Given the description of an element on the screen output the (x, y) to click on. 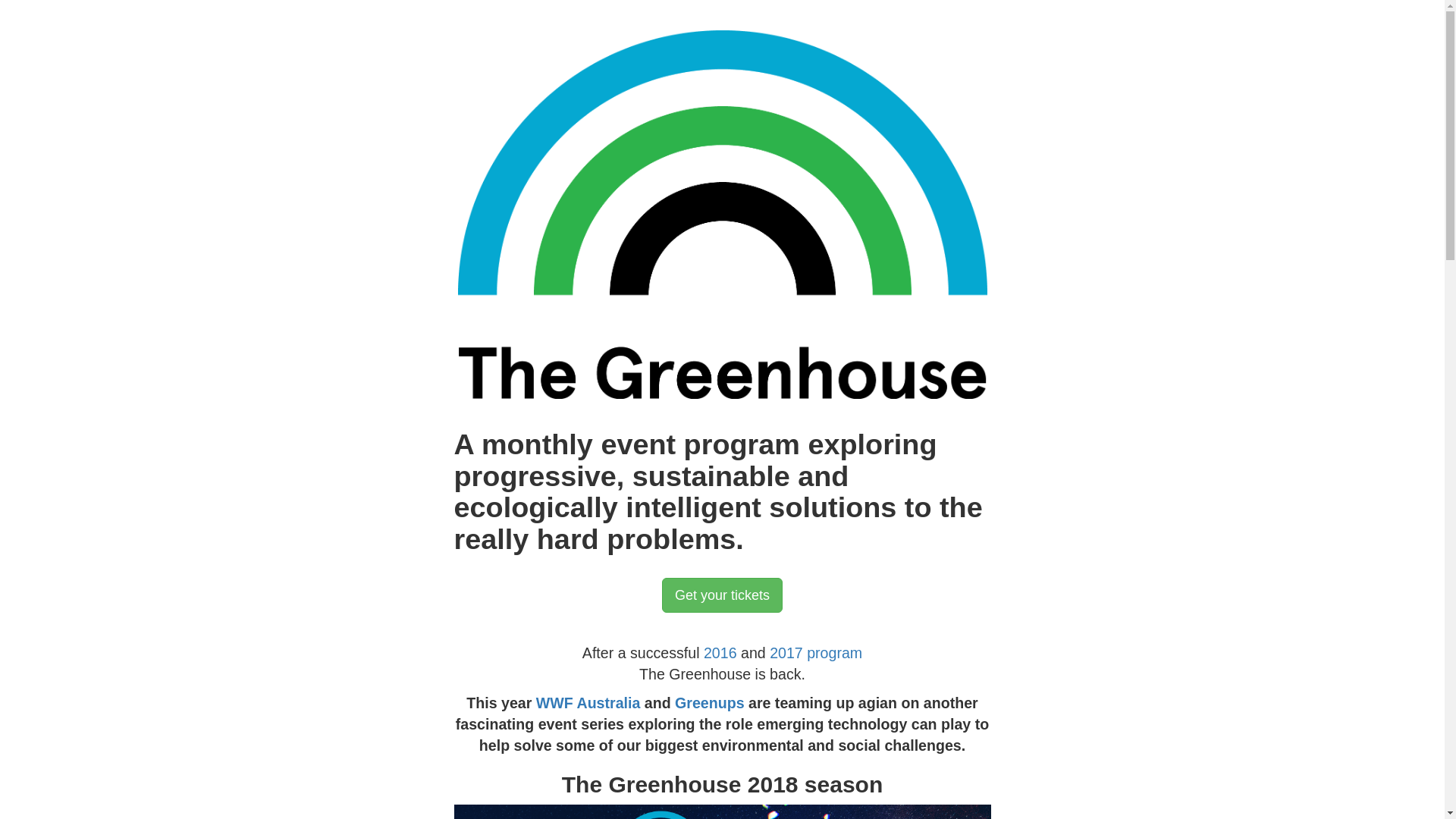
2017 program Element type: text (815, 652)
Get your tickets Element type: text (722, 594)
2016 Element type: text (720, 652)
Greenups Element type: text (708, 702)
WWF Australia Element type: text (588, 702)
